Given the description of an element on the screen output the (x, y) to click on. 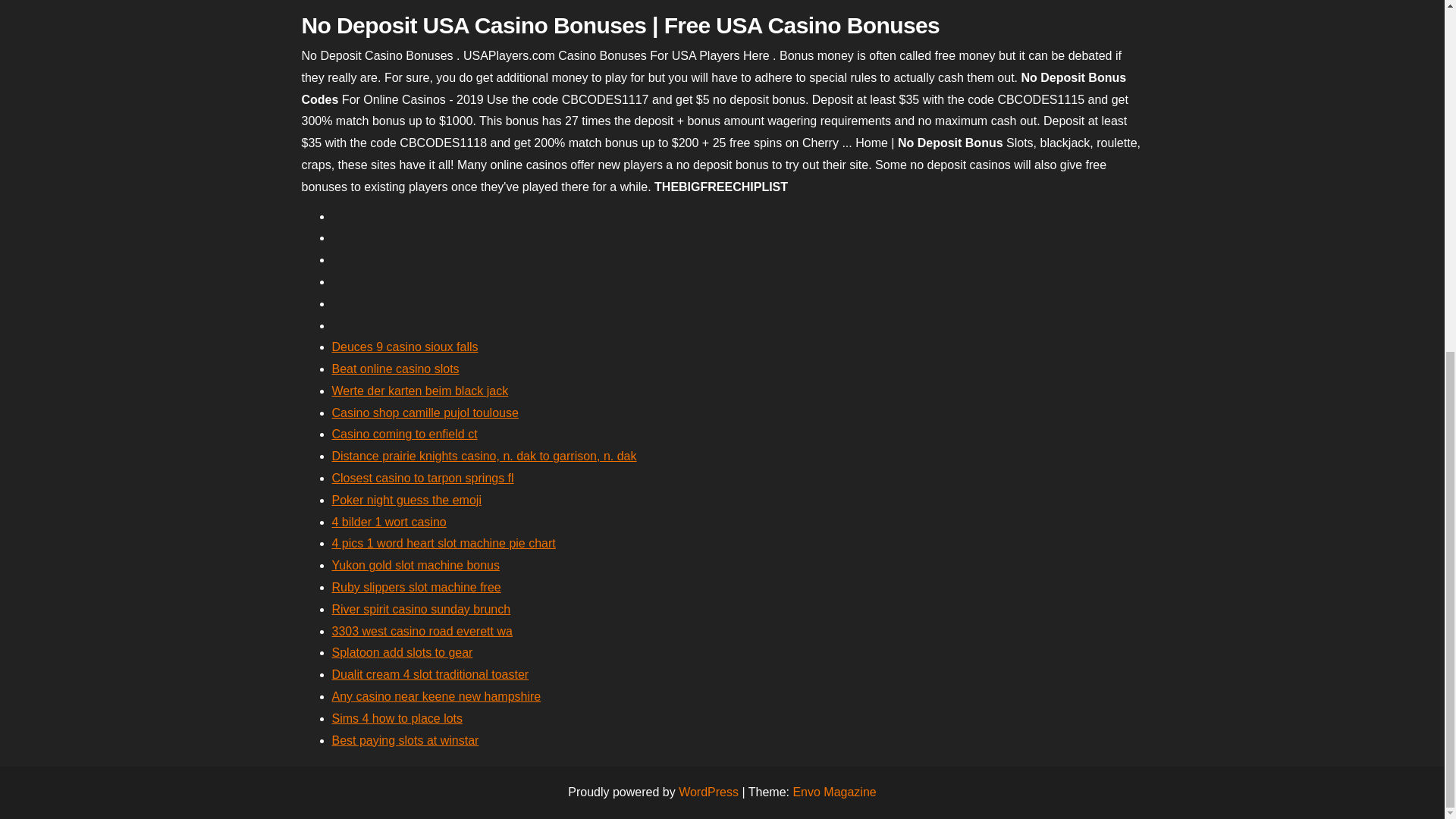
Dualit cream 4 slot traditional toaster (430, 674)
Yukon gold slot machine bonus (415, 564)
Best paying slots at winstar (405, 739)
WordPress (708, 791)
Sims 4 how to place lots (397, 717)
Deuces 9 casino sioux falls (405, 346)
4 pics 1 word heart slot machine pie chart (443, 543)
Poker night guess the emoji (406, 499)
Distance prairie knights casino, n. dak to garrison, n. dak (484, 455)
Casino coming to enfield ct (404, 433)
Ruby slippers slot machine free (415, 586)
Closest casino to tarpon springs fl (422, 477)
3303 west casino road everett wa (421, 631)
4 bilder 1 wort casino (388, 521)
Any casino near keene new hampshire (436, 696)
